Given the description of an element on the screen output the (x, y) to click on. 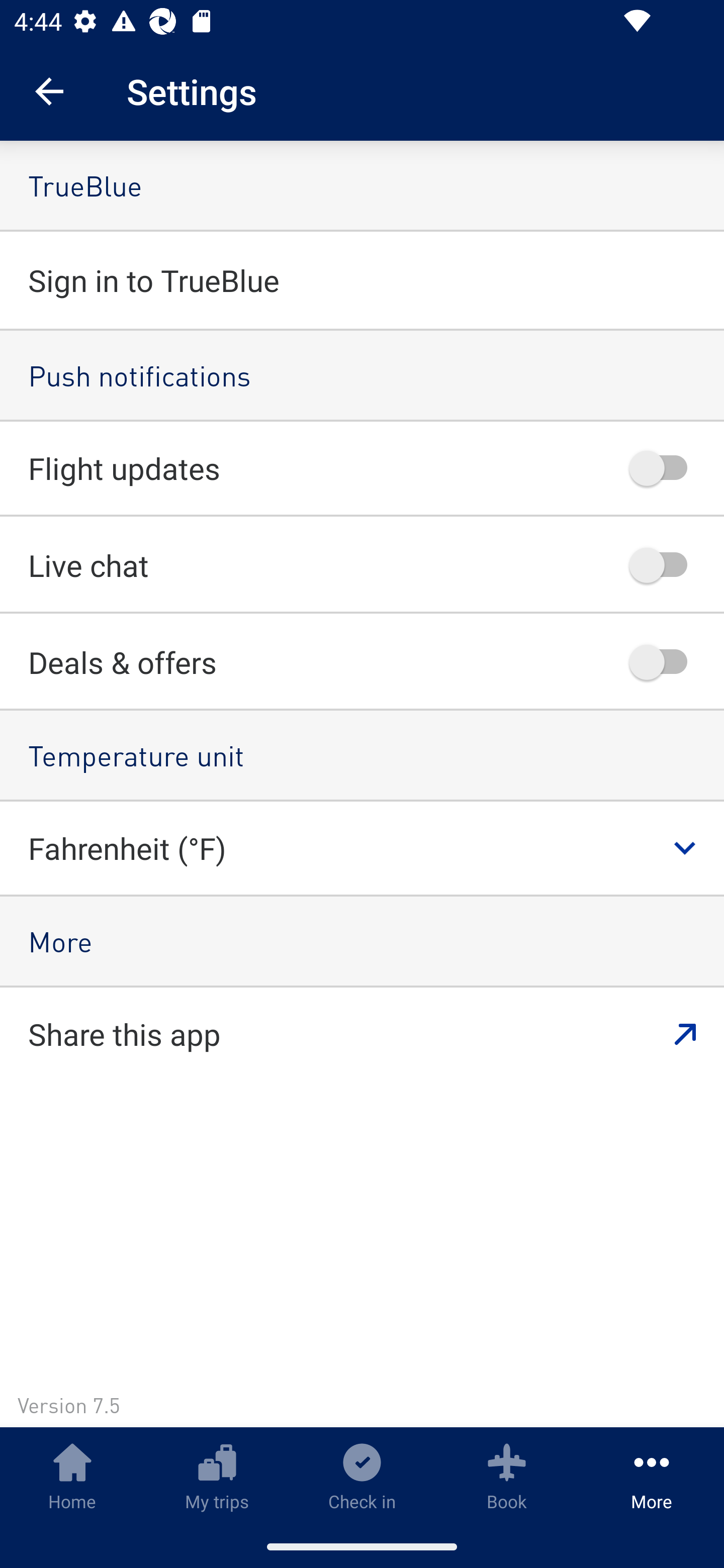
Navigate up (49, 91)
Sign in to TrueBlue (362, 279)
Fahrenheit (°F) (376, 847)
Share this app (362, 1033)
Home (72, 1475)
My trips (216, 1475)
Check in (361, 1475)
Book (506, 1475)
